Given the description of an element on the screen output the (x, y) to click on. 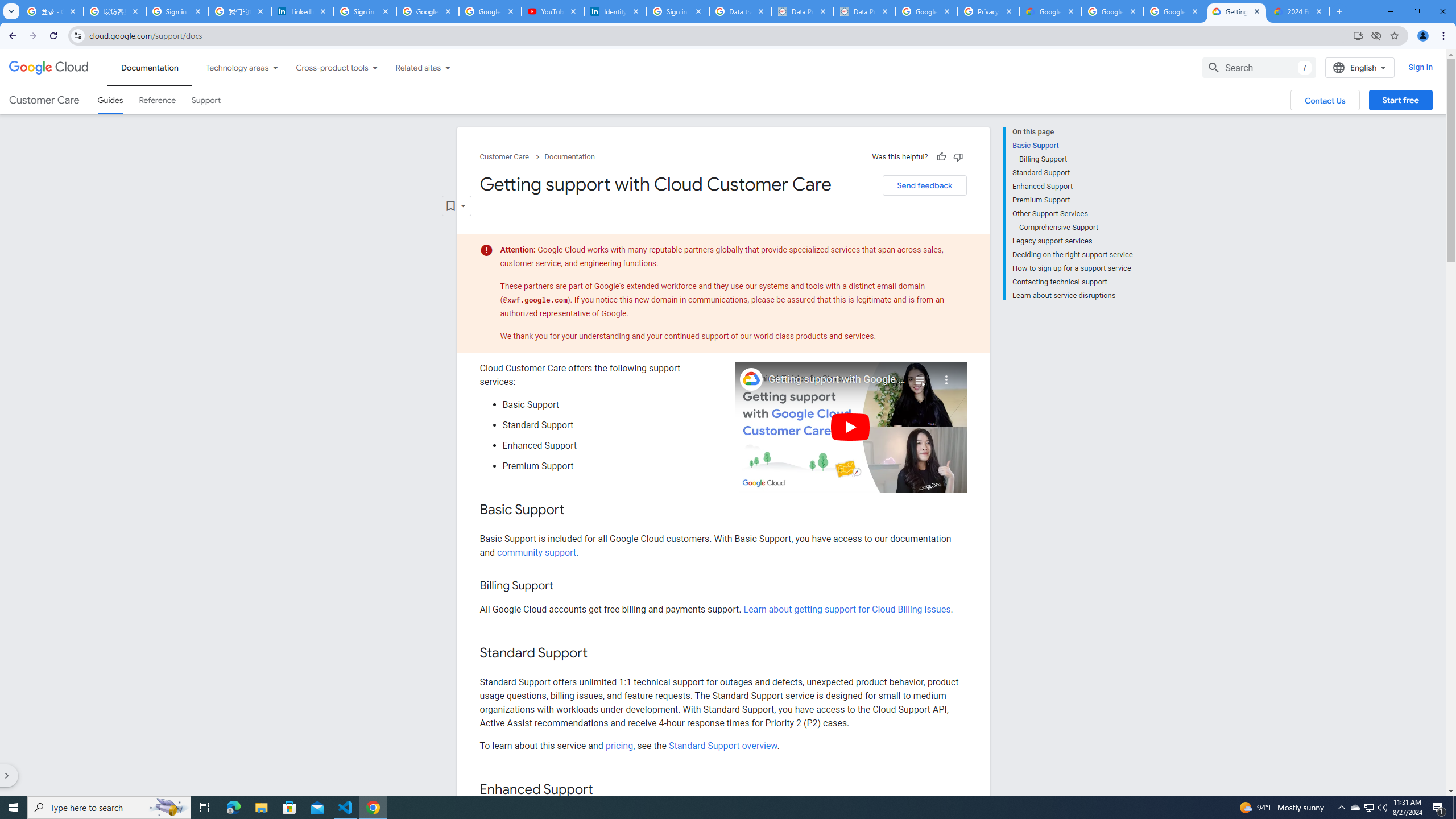
Contact Us (1324, 100)
Learn about service disruptions (1071, 294)
Copy link to this section: Basic Support (576, 510)
Data Privacy Framework (802, 11)
Related sites (411, 67)
Customer Care (44, 100)
Comprehensive Support (1075, 227)
Sign in - Google Accounts (177, 11)
More (946, 375)
Copy link to this section: Billing Support (564, 585)
Premium Support (1071, 200)
